Given the description of an element on the screen output the (x, y) to click on. 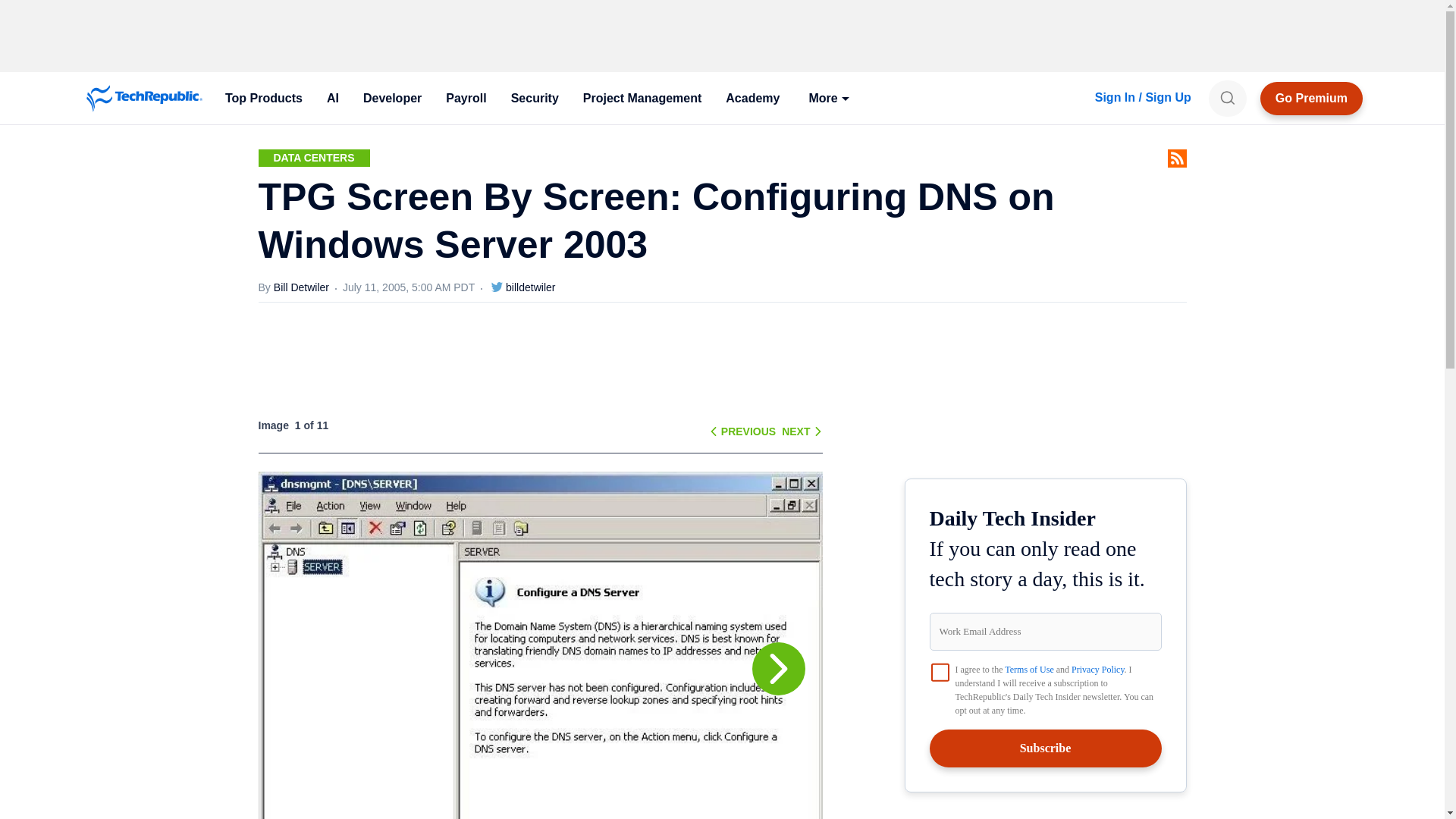
Bill Detwiler on Twitter (497, 286)
NEXT (795, 431)
Top Products (263, 98)
Academy (752, 98)
TechRepublic (143, 98)
TechRepublic (143, 98)
Developer (392, 98)
Payroll (465, 98)
Security (534, 98)
Bill Detwiler (307, 287)
